Given the description of an element on the screen output the (x, y) to click on. 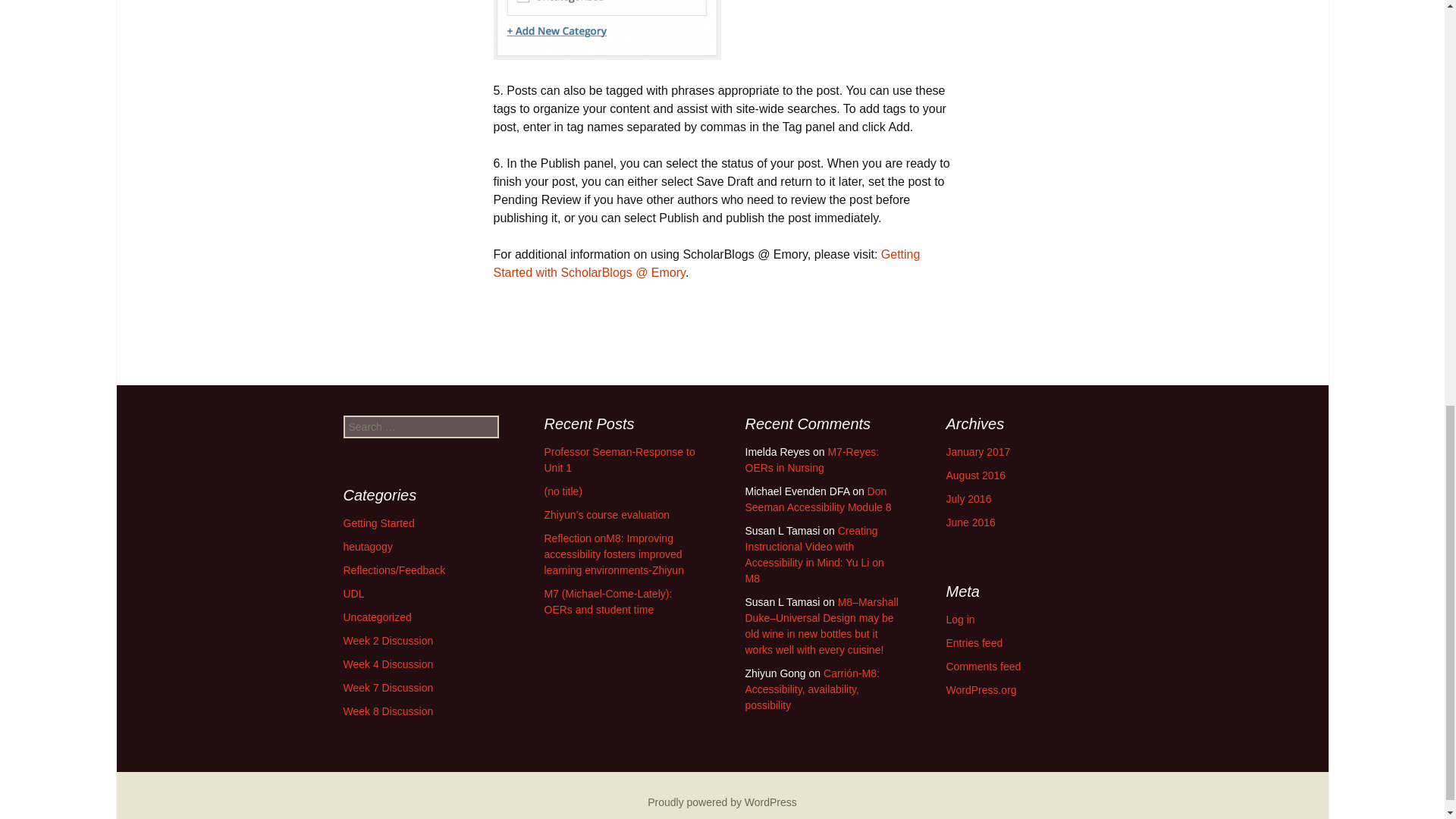
heutagogy (366, 546)
Uncategorized (376, 616)
Week 7 Discussion (387, 687)
Don Seeman Accessibility Module 8 (817, 499)
June 2016 (970, 522)
Proudly powered by WordPress (721, 802)
January 2017 (978, 451)
July 2016 (968, 499)
Week 8 Discussion (387, 711)
UDL (353, 593)
Professor Seeman-Response to Unit 1 (619, 459)
August 2016 (976, 475)
Log in (960, 619)
Entries feed (974, 643)
